Given the description of an element on the screen output the (x, y) to click on. 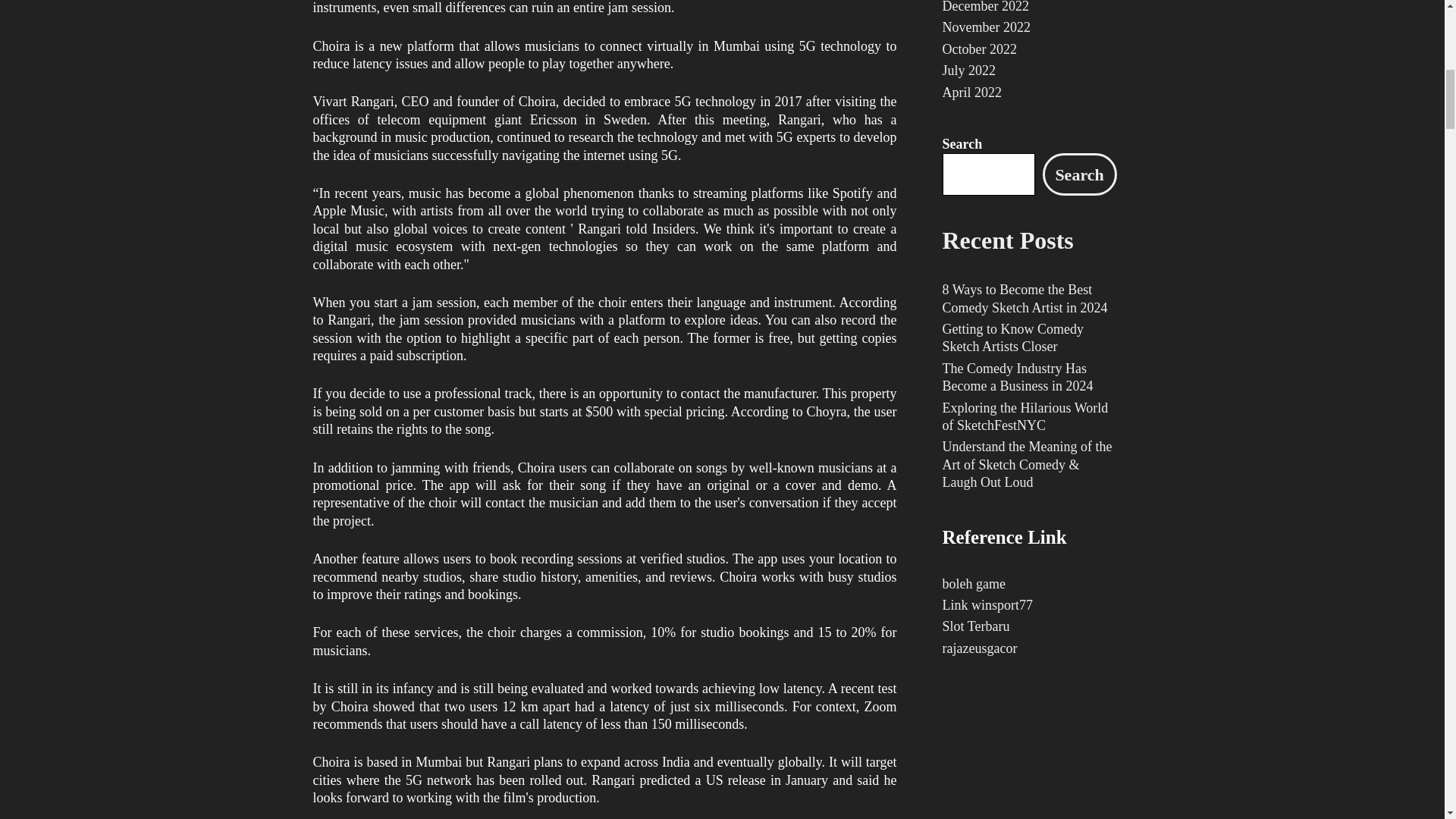
boleh game (973, 583)
Link winsport77 (987, 604)
Slot Terbaru (975, 626)
rajazeusgacor (979, 648)
